Given the description of an element on the screen output the (x, y) to click on. 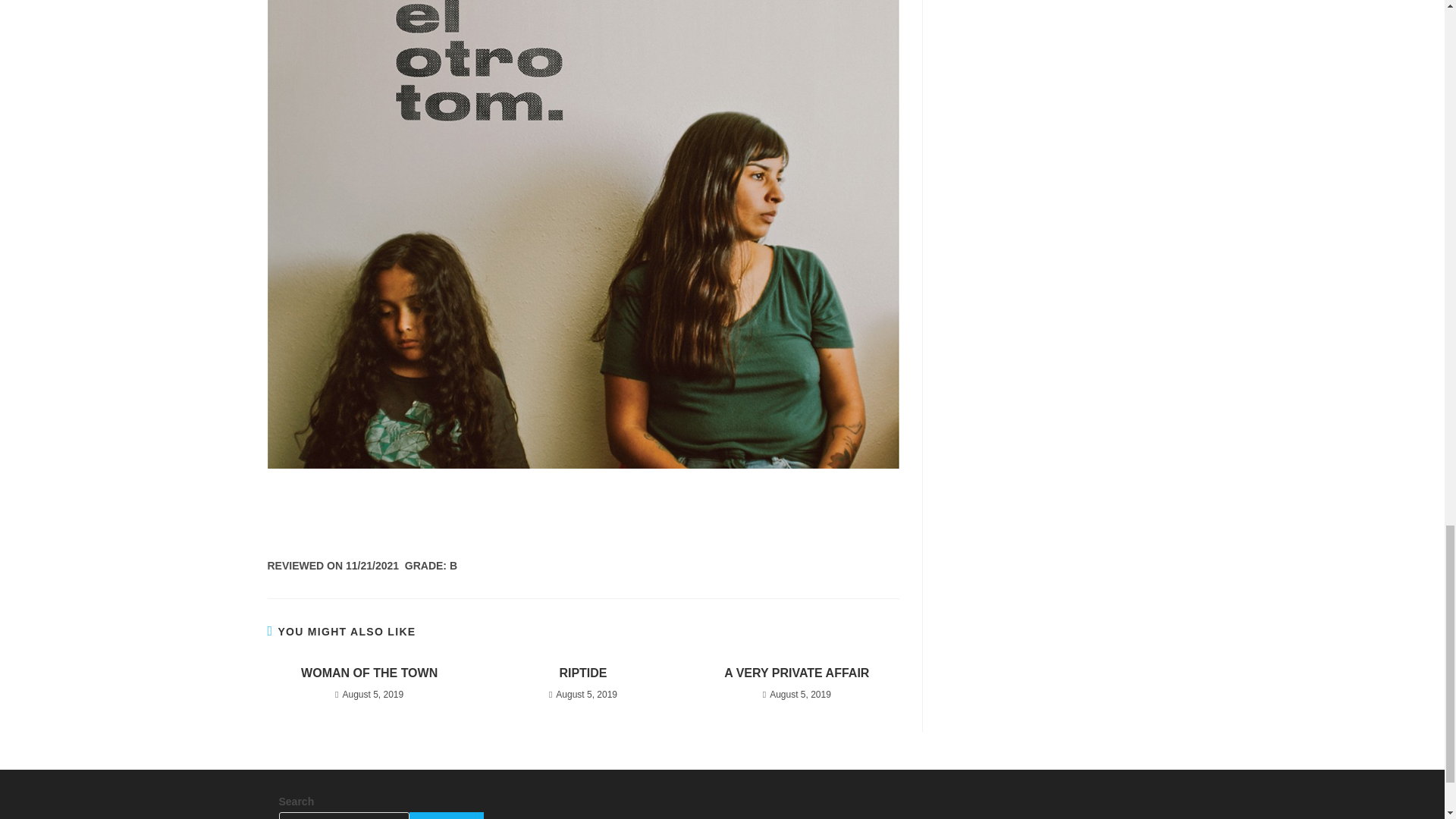
WOMAN OF THE TOWN (368, 673)
SEARCH (446, 815)
RIPTIDE (582, 673)
A VERY PRIVATE AFFAIR (796, 673)
